Given the description of an element on the screen output the (x, y) to click on. 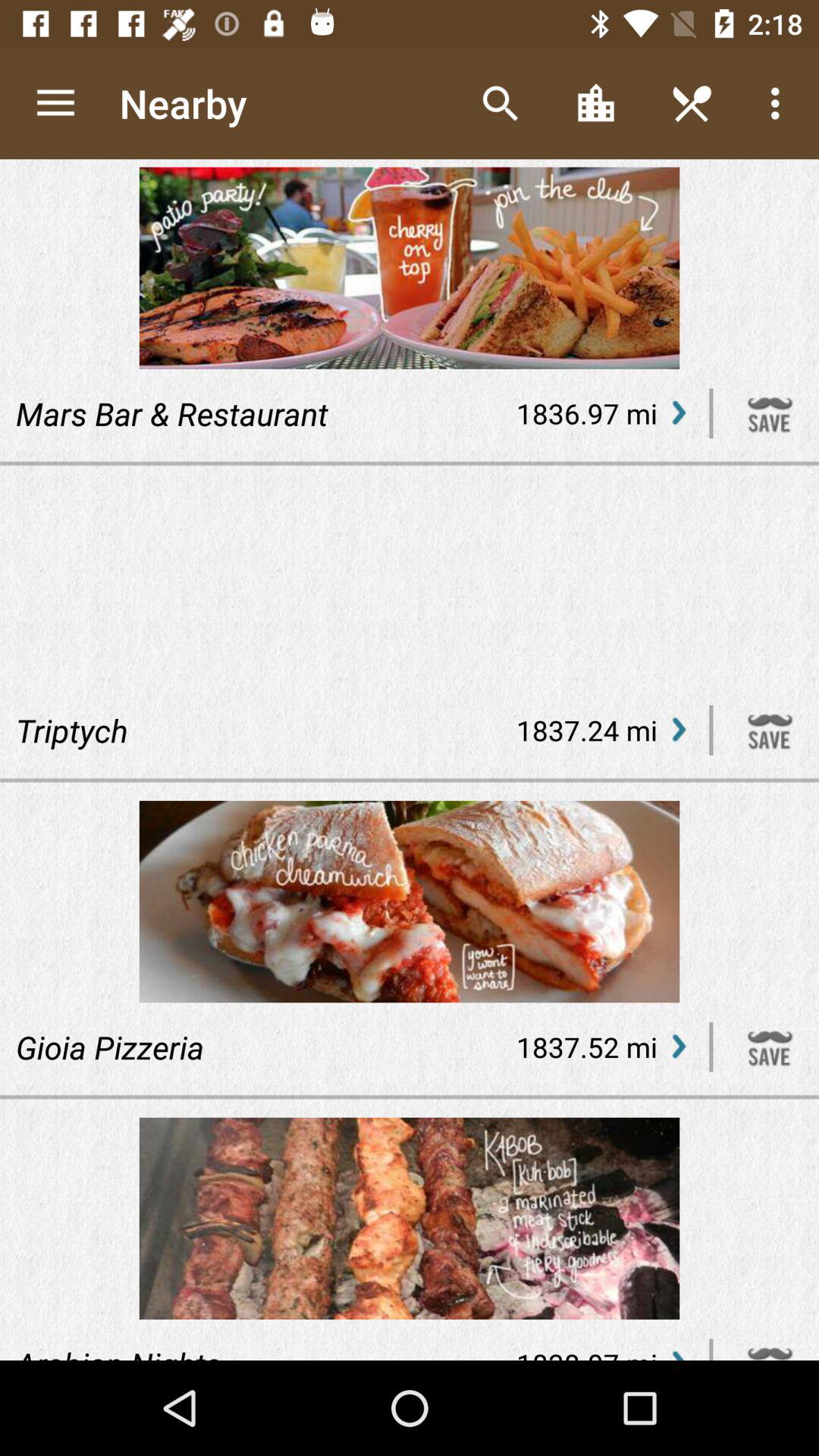
save selection (770, 413)
